Given the description of an element on the screen output the (x, y) to click on. 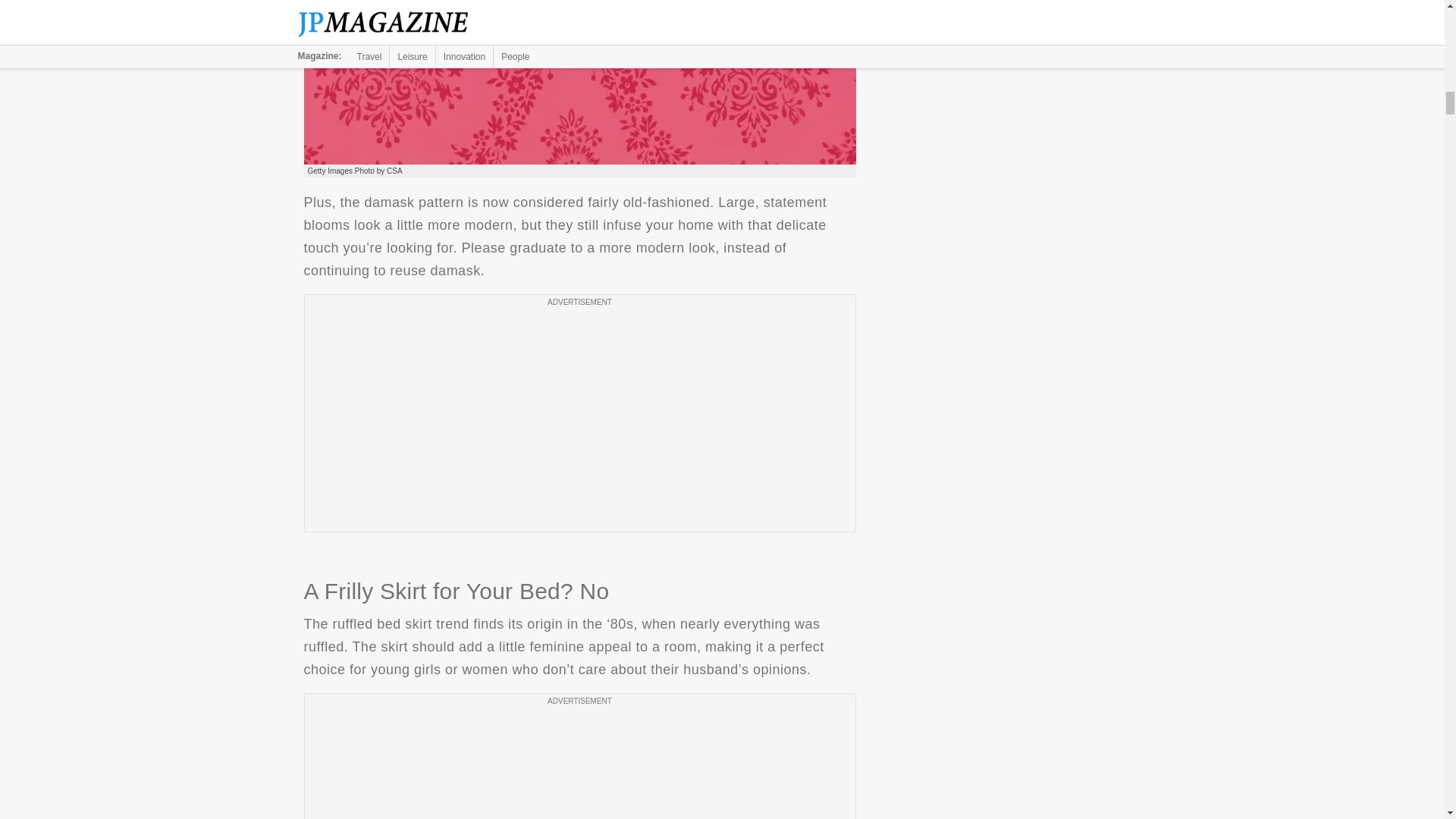
Stop It With Those Damask Patterns (579, 82)
